Given the description of an element on the screen output the (x, y) to click on. 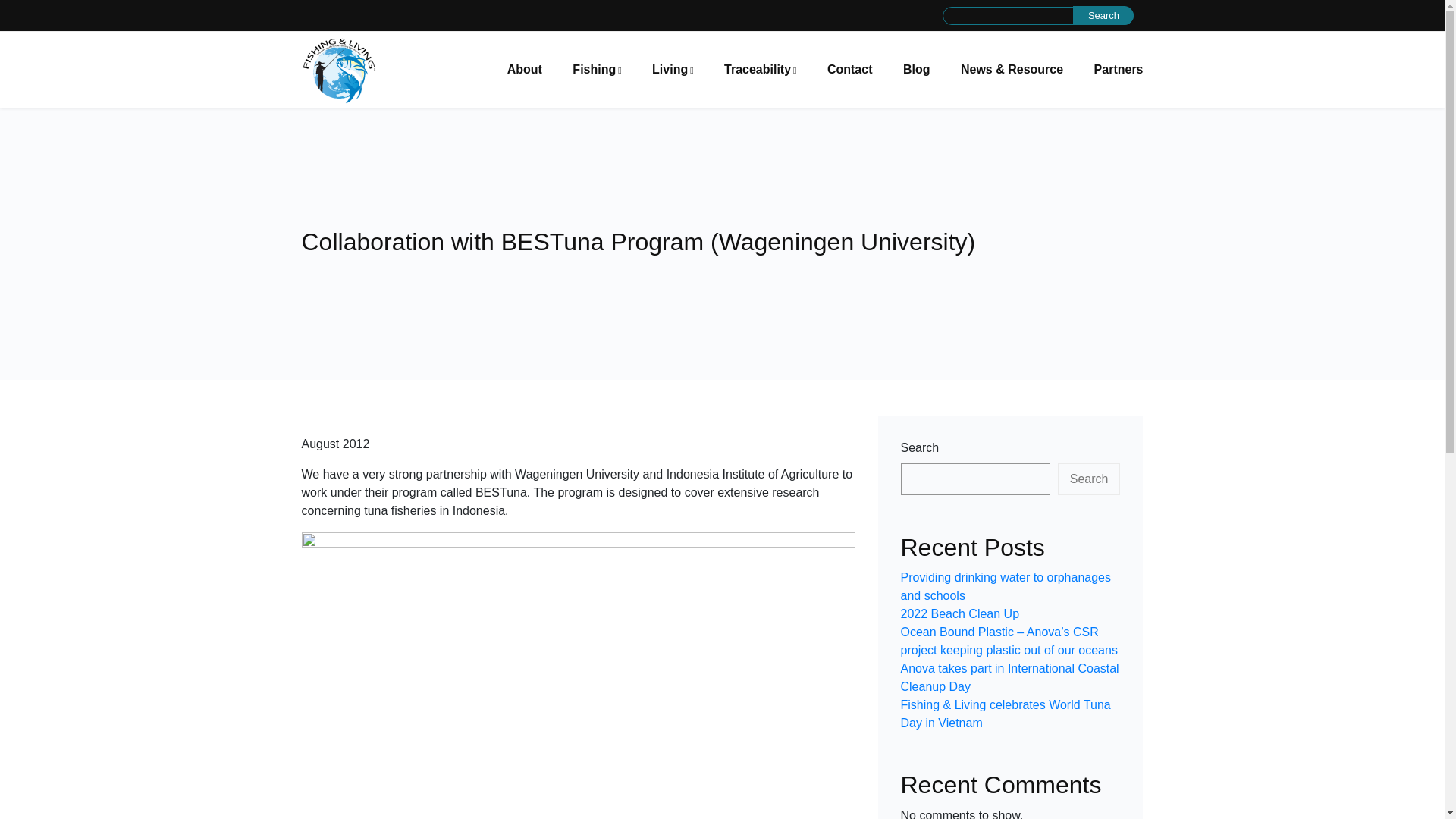
Search (1103, 15)
Fishing (596, 69)
Fishing (596, 69)
Traceability (759, 69)
Living (673, 69)
Partners (1118, 69)
Search (1103, 15)
Contact (849, 69)
